Given the description of an element on the screen output the (x, y) to click on. 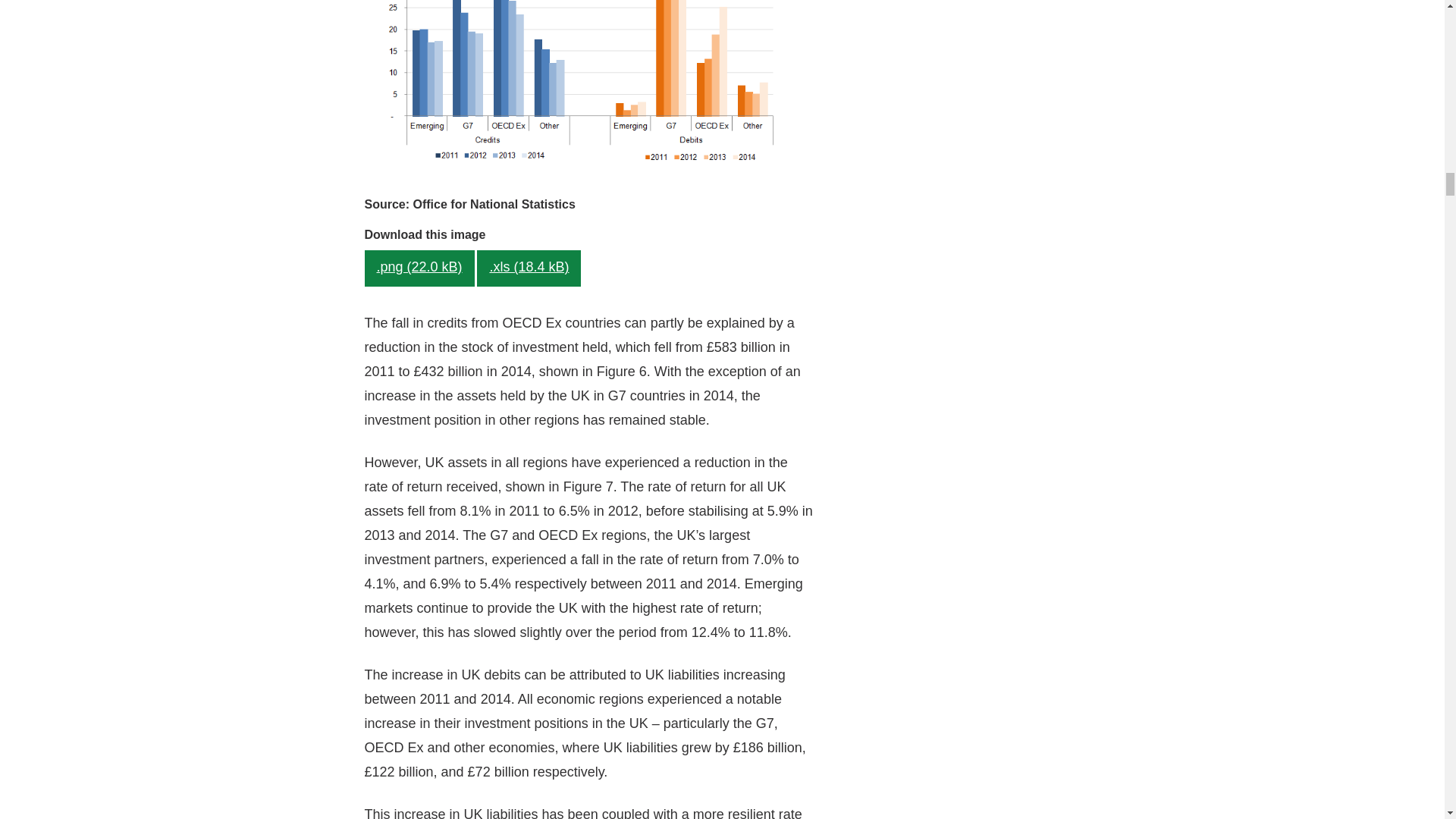
Download as xls (528, 268)
Download as png (419, 268)
